Given the description of an element on the screen output the (x, y) to click on. 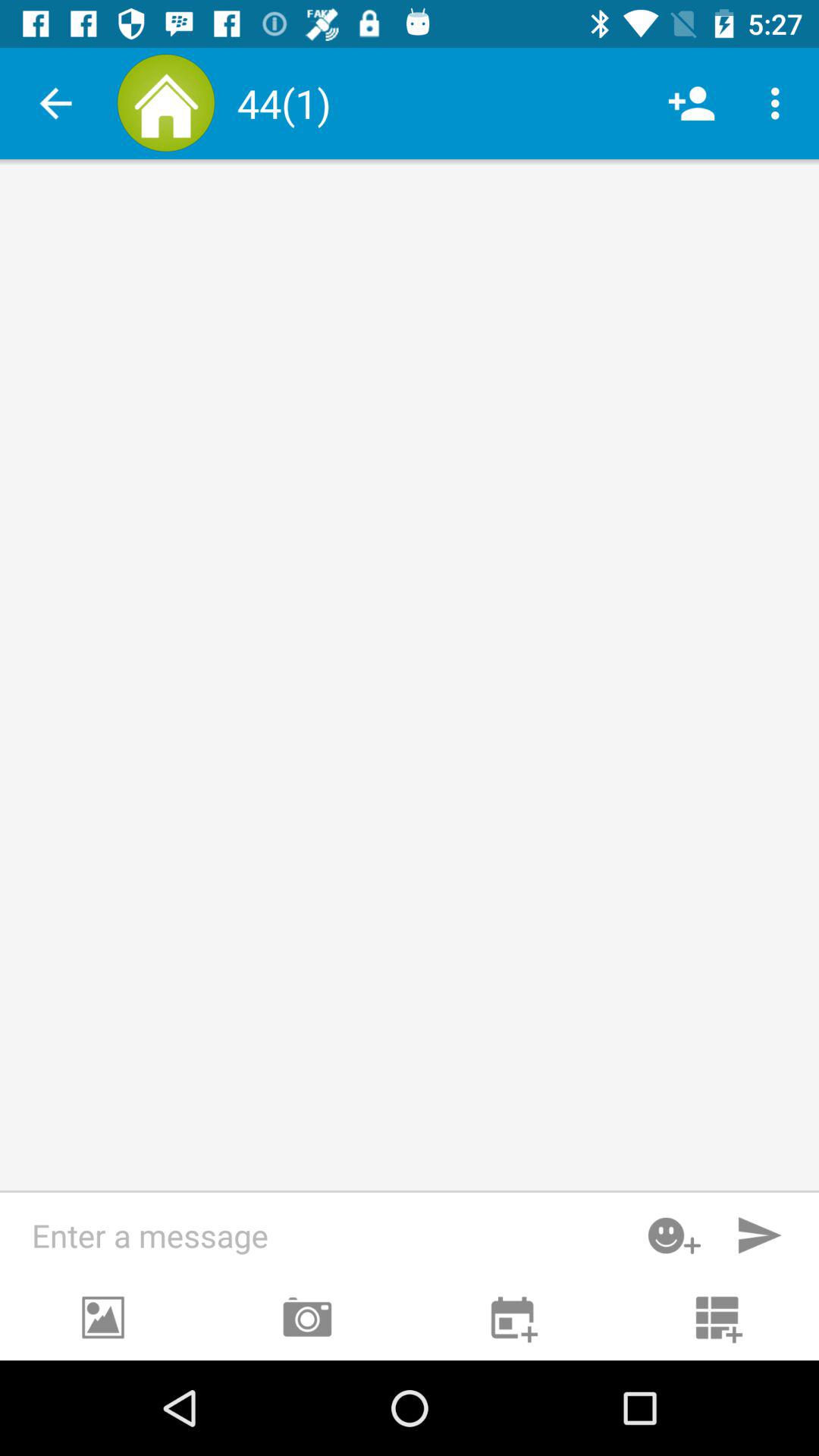
launch the icon next to the (1) item (691, 103)
